Given the description of an element on the screen output the (x, y) to click on. 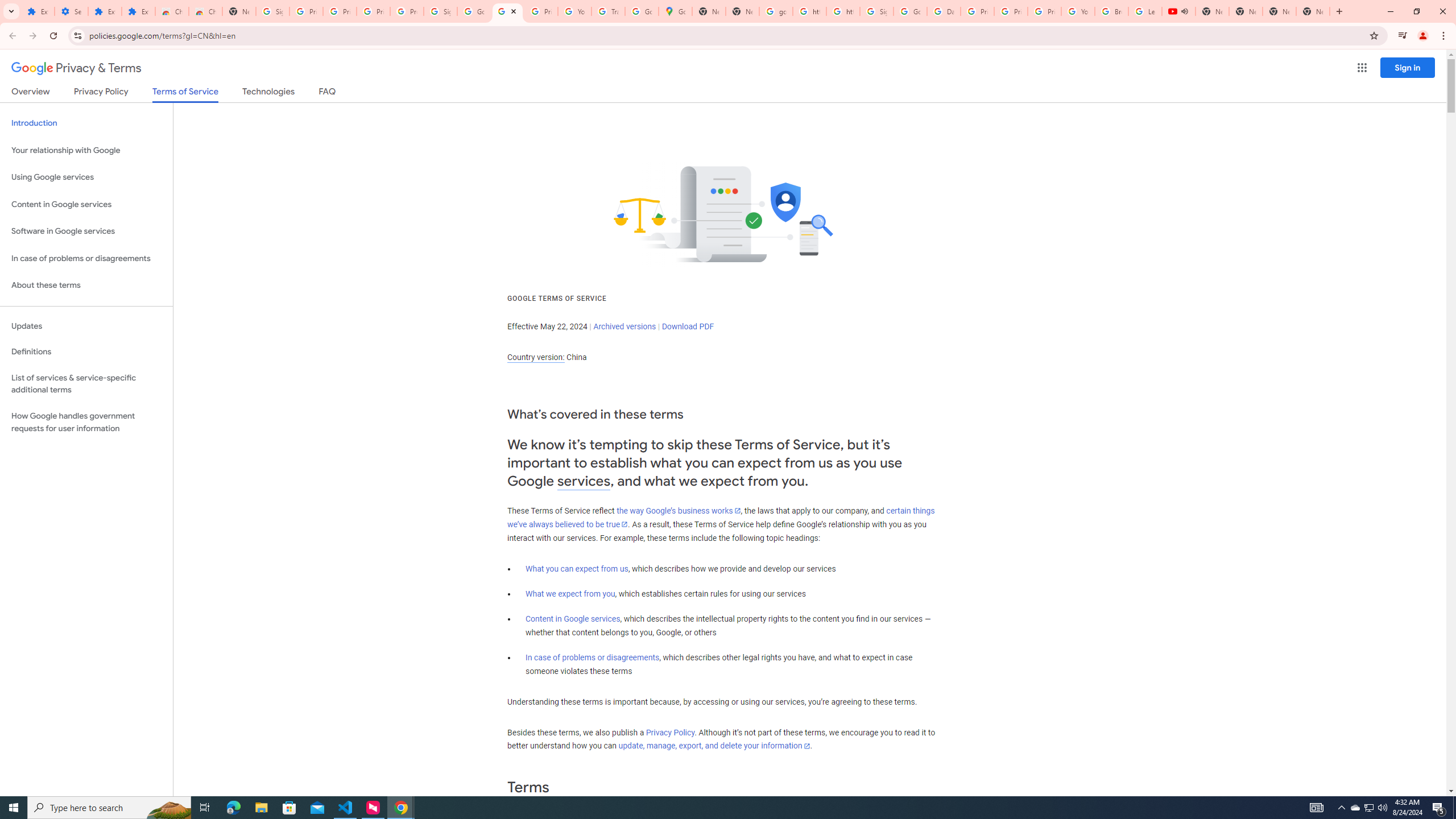
Privacy Help Center - Policies Help (976, 11)
Chrome Web Store - Themes (205, 11)
Extensions (104, 11)
https://scholar.google.com/ (809, 11)
